Given the description of an element on the screen output the (x, y) to click on. 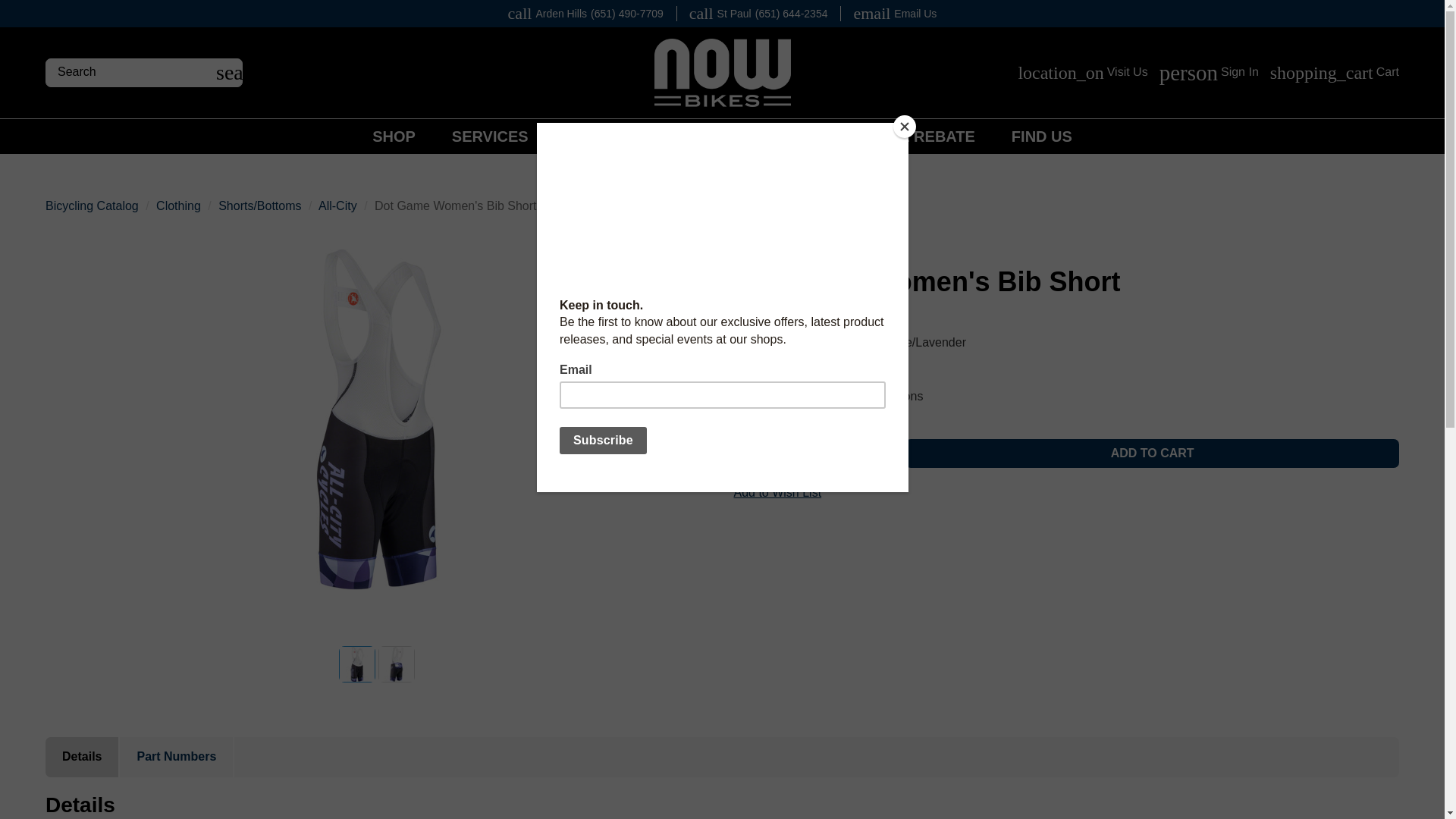
SHOP (393, 135)
Call Us (585, 13)
Call Us (759, 13)
Visit Us (1082, 72)
Account (1208, 73)
Cart (1334, 72)
SERVICES (490, 135)
Email Us (894, 13)
Cart (1334, 72)
All-City Dot Game Women's Bib Short  (378, 418)
Email Us (894, 13)
SEARCH (229, 72)
Stores (1082, 72)
1 (808, 452)
Sign In (1208, 73)
